Given the description of an element on the screen output the (x, y) to click on. 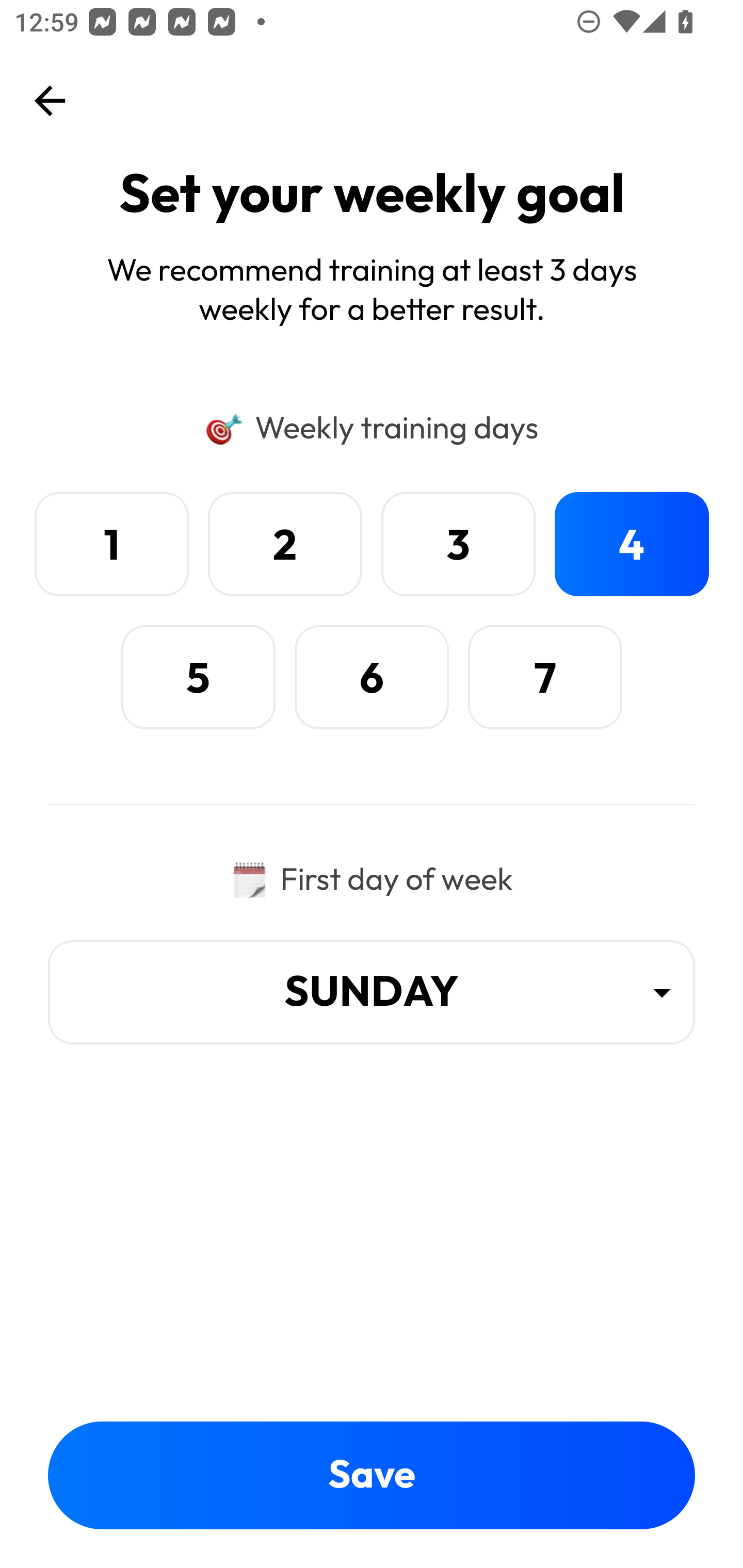
1 (111, 543)
2 (285, 543)
3 (458, 543)
4 (631, 543)
5 (198, 677)
6 (371, 677)
7 (545, 677)
SUNDAY (371, 992)
Save (371, 1475)
